Given the description of an element on the screen output the (x, y) to click on. 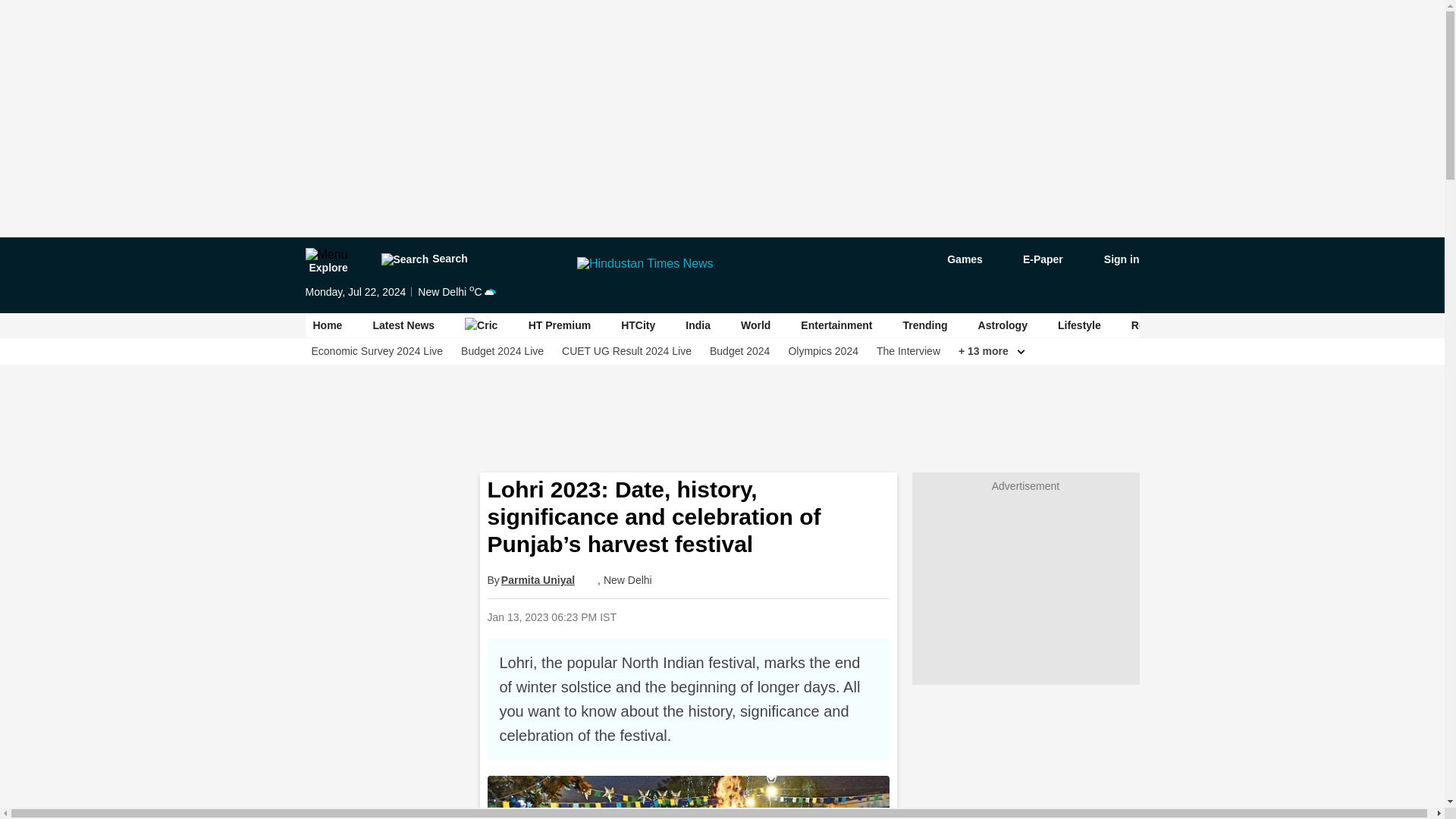
CUET UG Result 2024 Live (626, 350)
Crickit (480, 324)
Astrology (1002, 325)
Share on Twitter (749, 616)
Quick Reads (672, 616)
Lifestyle (1079, 325)
India (697, 325)
HT Premium (559, 325)
Games (954, 258)
World (755, 325)
Share on Linkdin (788, 616)
Budget 2024 Live (502, 350)
game (954, 258)
Shop Now (1384, 325)
Home (327, 325)
